Given the description of an element on the screen output the (x, y) to click on. 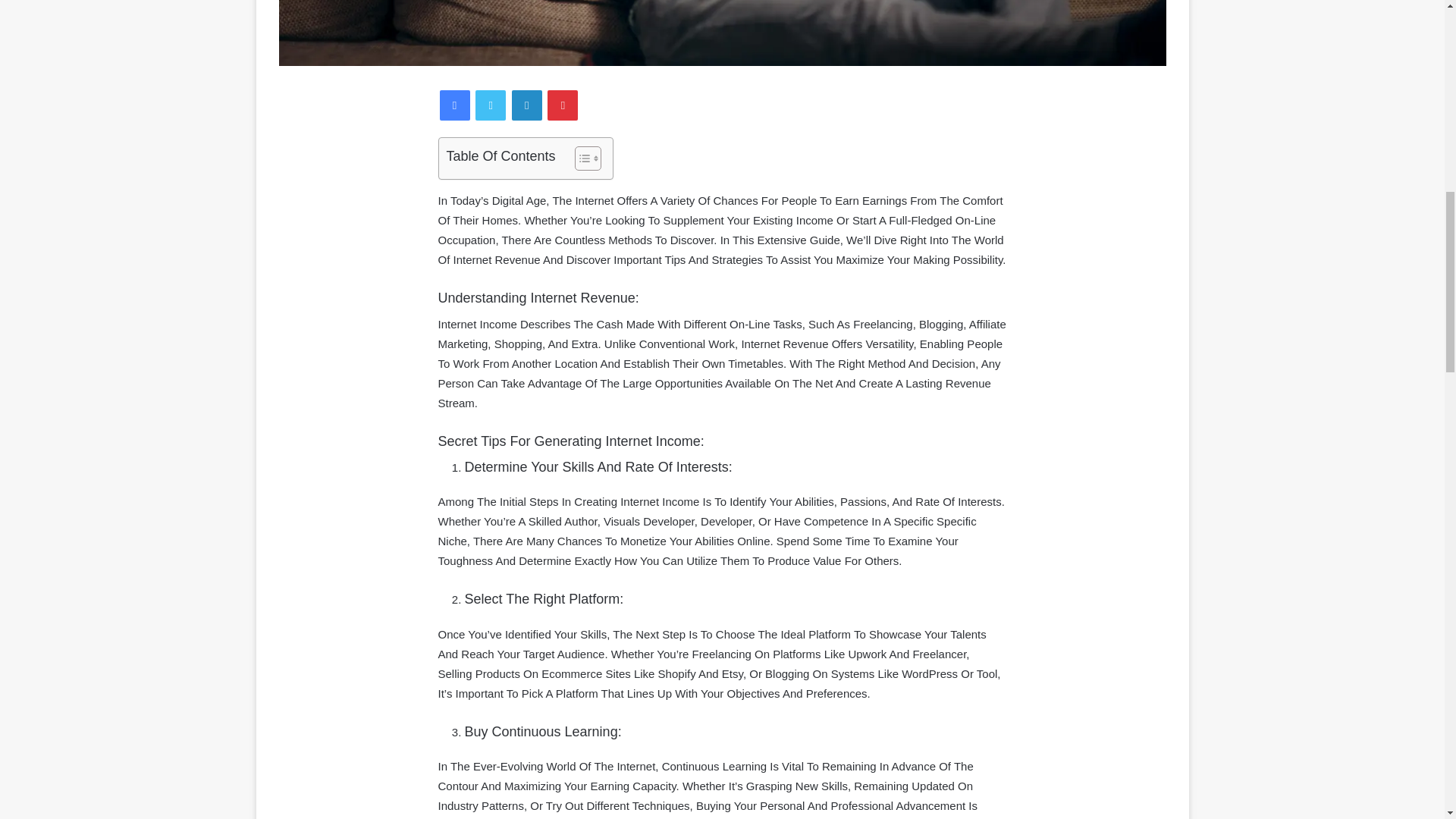
LinkedIn (526, 105)
LinkedIn (526, 105)
Pinterest (562, 105)
Twitter (490, 105)
Pinterest (562, 105)
Facebook (454, 105)
Twitter (490, 105)
Facebook (454, 105)
